Given the description of an element on the screen output the (x, y) to click on. 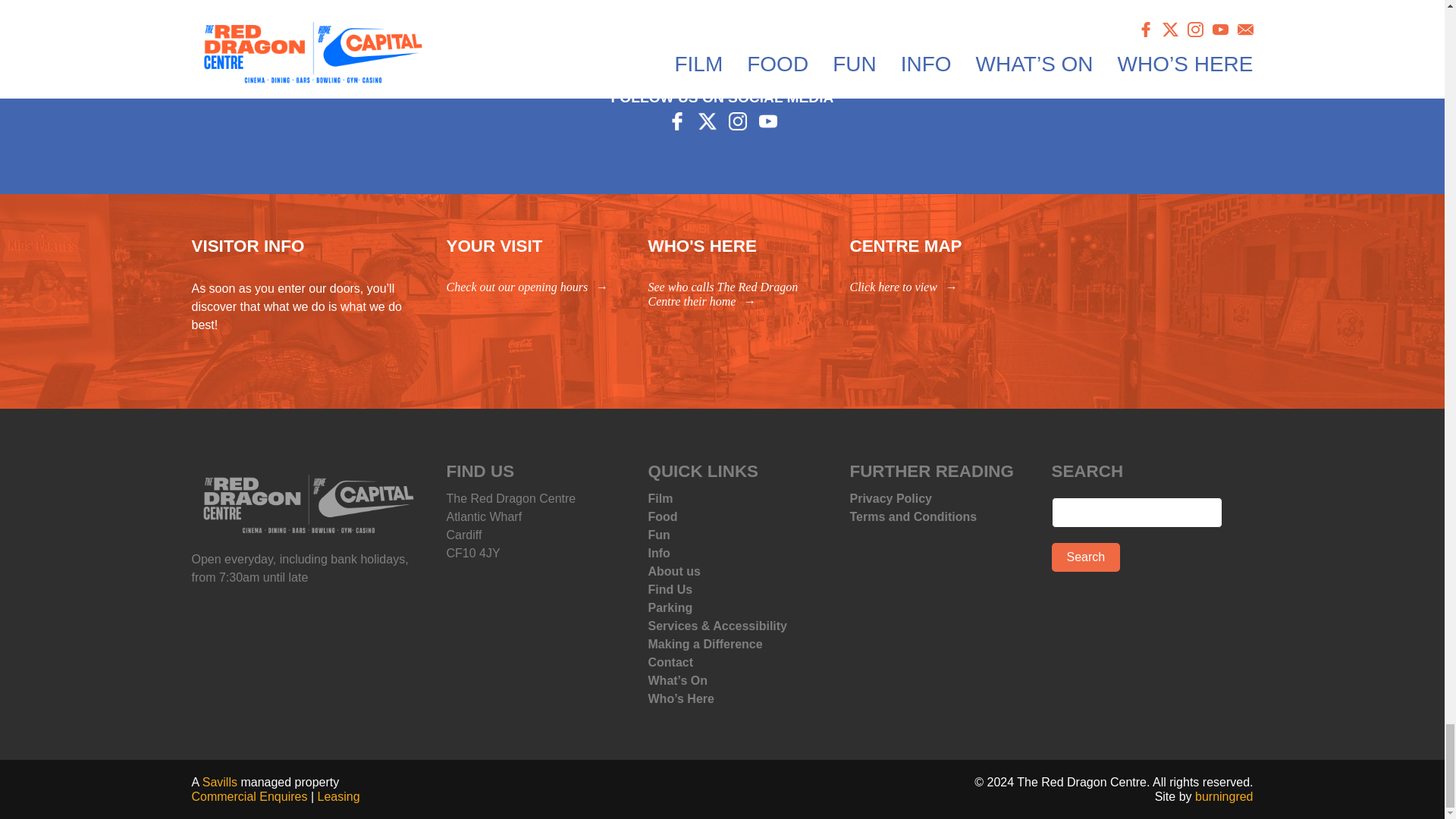
cardiff design agency burning red (1224, 796)
Search (1085, 556)
